Given the description of an element on the screen output the (x, y) to click on. 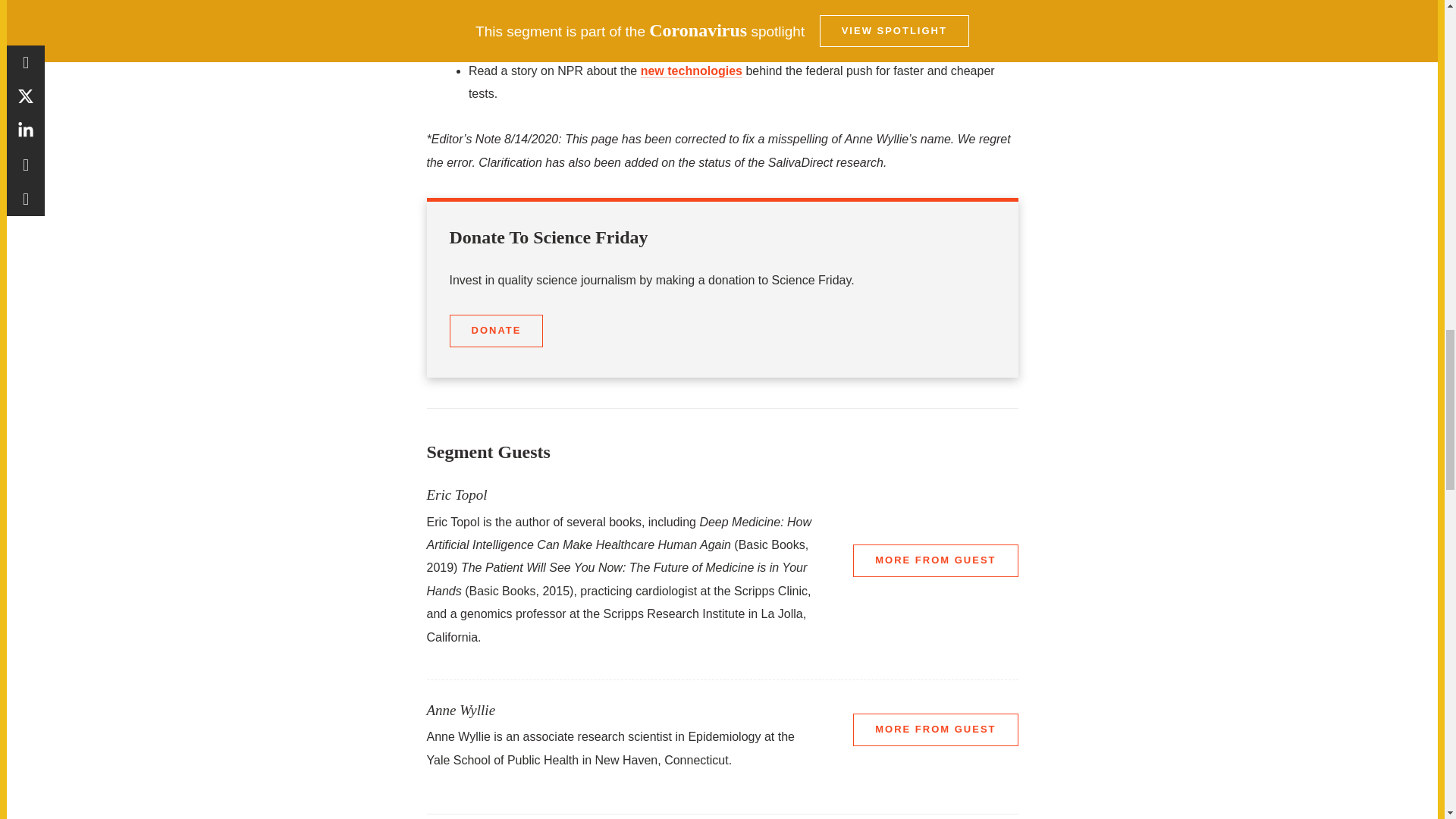
More From Guest (935, 560)
